Given the description of an element on the screen output the (x, y) to click on. 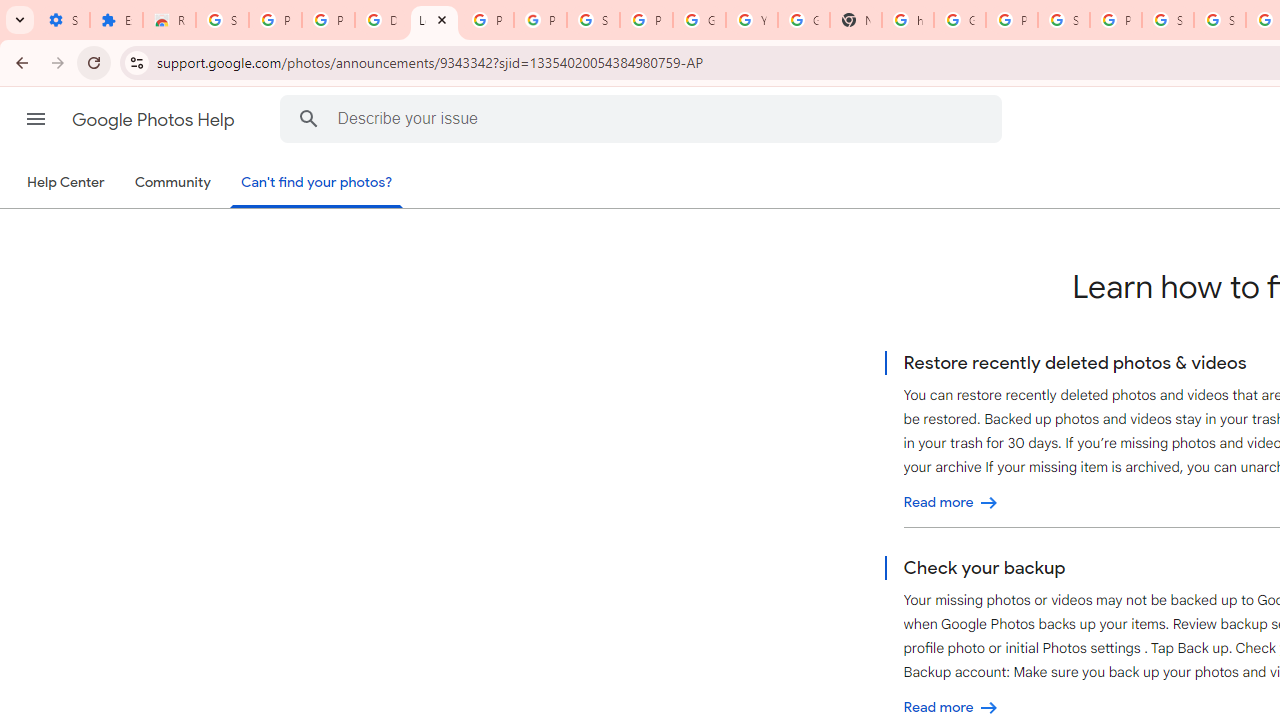
Settings - On startup (63, 20)
Sign in - Google Accounts (1219, 20)
Help Center (65, 183)
Main menu (35, 119)
Google Photos Help (155, 119)
Learn how to find your photos - Google Photos Help (434, 20)
